Given the description of an element on the screen output the (x, y) to click on. 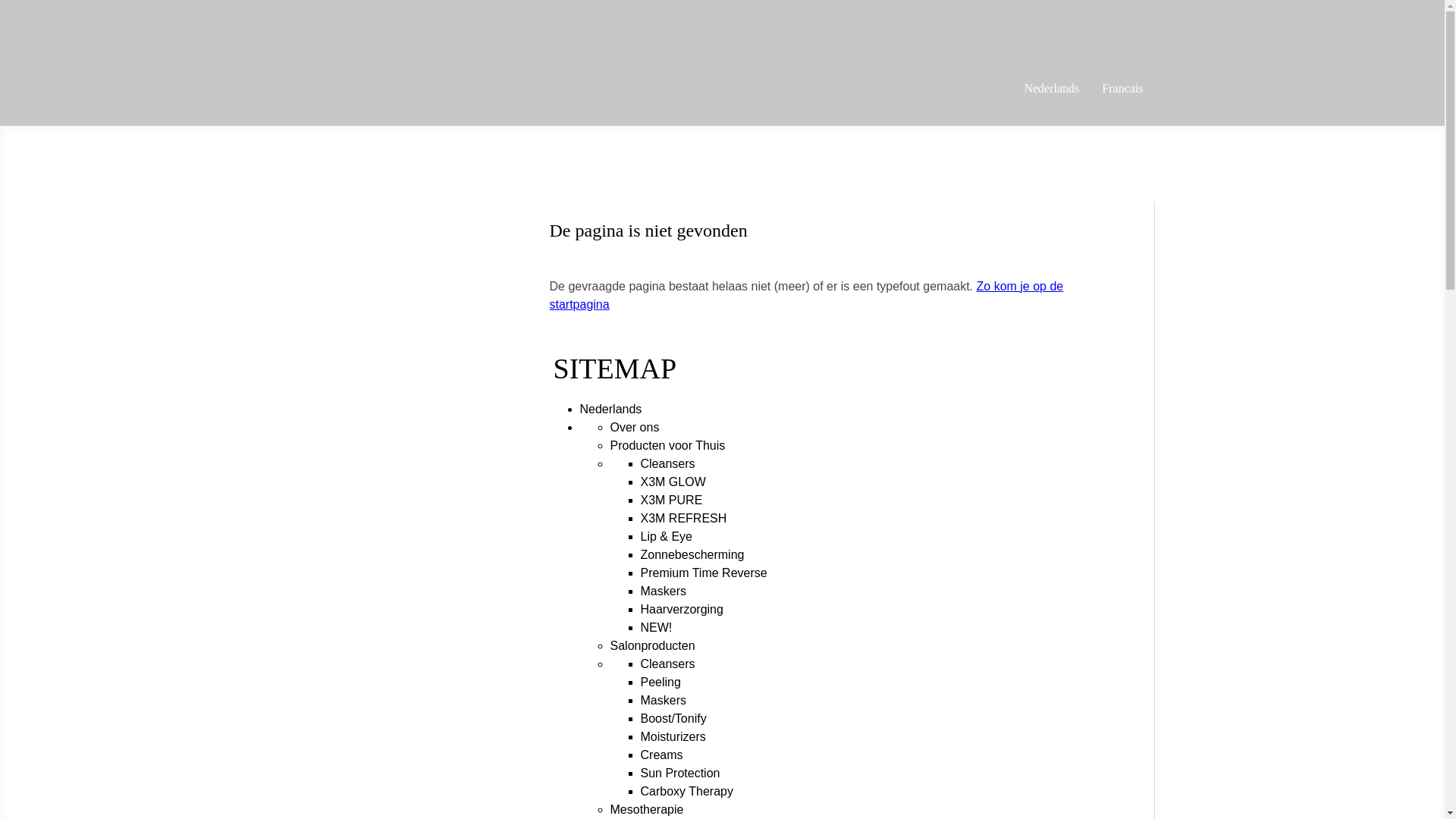
Carboxy Therapy Element type: text (686, 790)
Peeling Element type: text (660, 681)
Maskers Element type: text (662, 590)
Salonproducten Element type: text (651, 645)
Cleansers Element type: text (667, 463)
Nederlands Element type: text (610, 408)
Sun Protection Element type: text (679, 772)
Haarverzorging Element type: text (681, 608)
Lip & Eye Element type: text (665, 536)
Zonnebescherming Element type: text (691, 554)
Nederlands Element type: text (1051, 89)
Maskers Element type: text (662, 699)
X3M REFRESH Element type: text (683, 517)
Mesotherapie Element type: text (646, 809)
X3M PURE Element type: text (671, 499)
Producten voor Thuis Element type: text (666, 445)
X3M GLOW Element type: text (672, 481)
Moisturizers Element type: text (672, 736)
NEW! Element type: text (655, 627)
Francais Element type: text (1122, 89)
Cleansers Element type: text (667, 663)
Boost/Tonify Element type: text (673, 718)
Premium Time Reverse Element type: text (703, 572)
Creams Element type: text (661, 754)
Over ons Element type: text (633, 426)
Zo kom je op de startpagina Element type: text (806, 294)
